Given the description of an element on the screen output the (x, y) to click on. 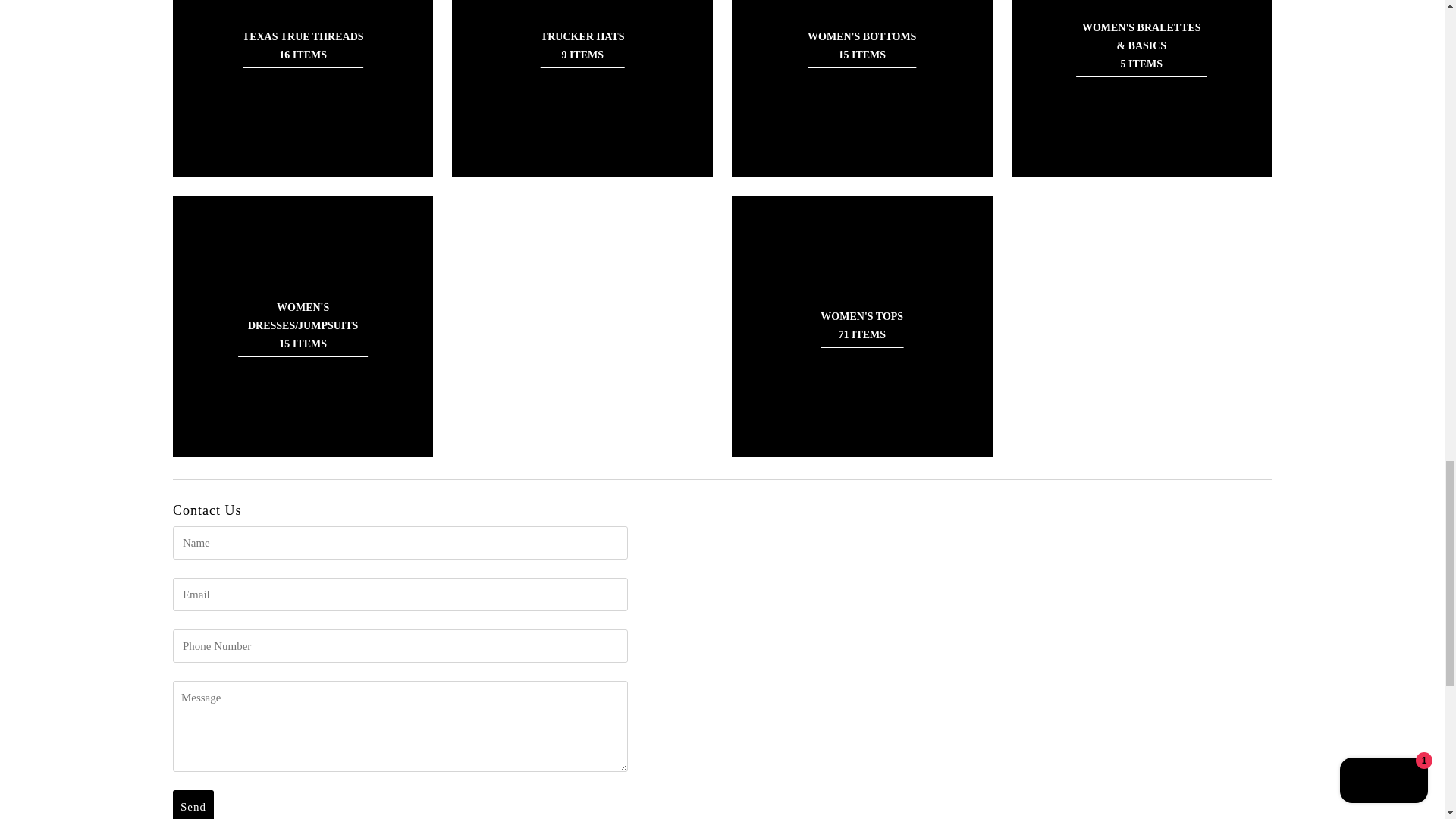
Send (193, 804)
